Given the description of an element on the screen output the (x, y) to click on. 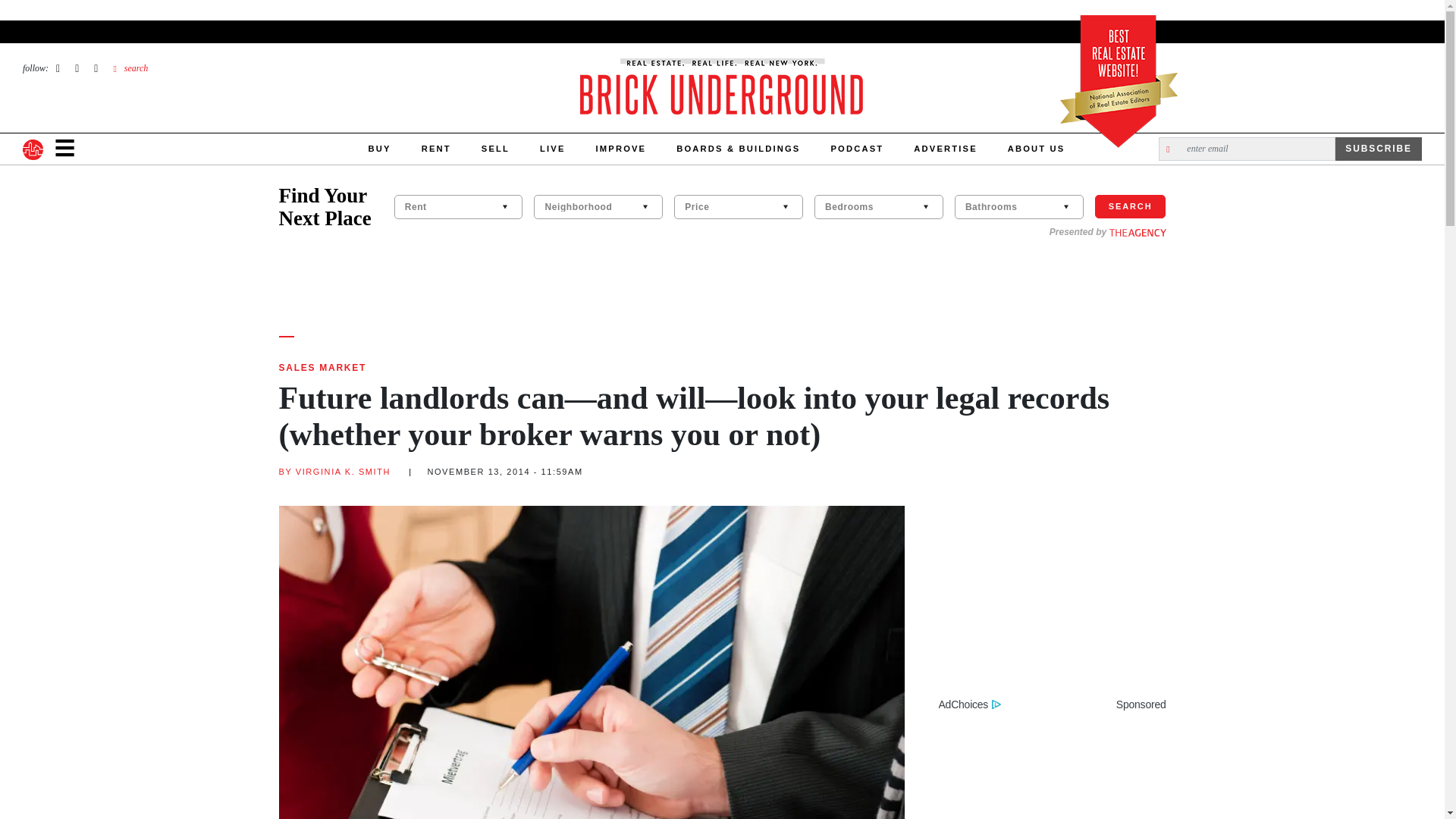
RENT (435, 148)
BUY (379, 148)
